Given the description of an element on the screen output the (x, y) to click on. 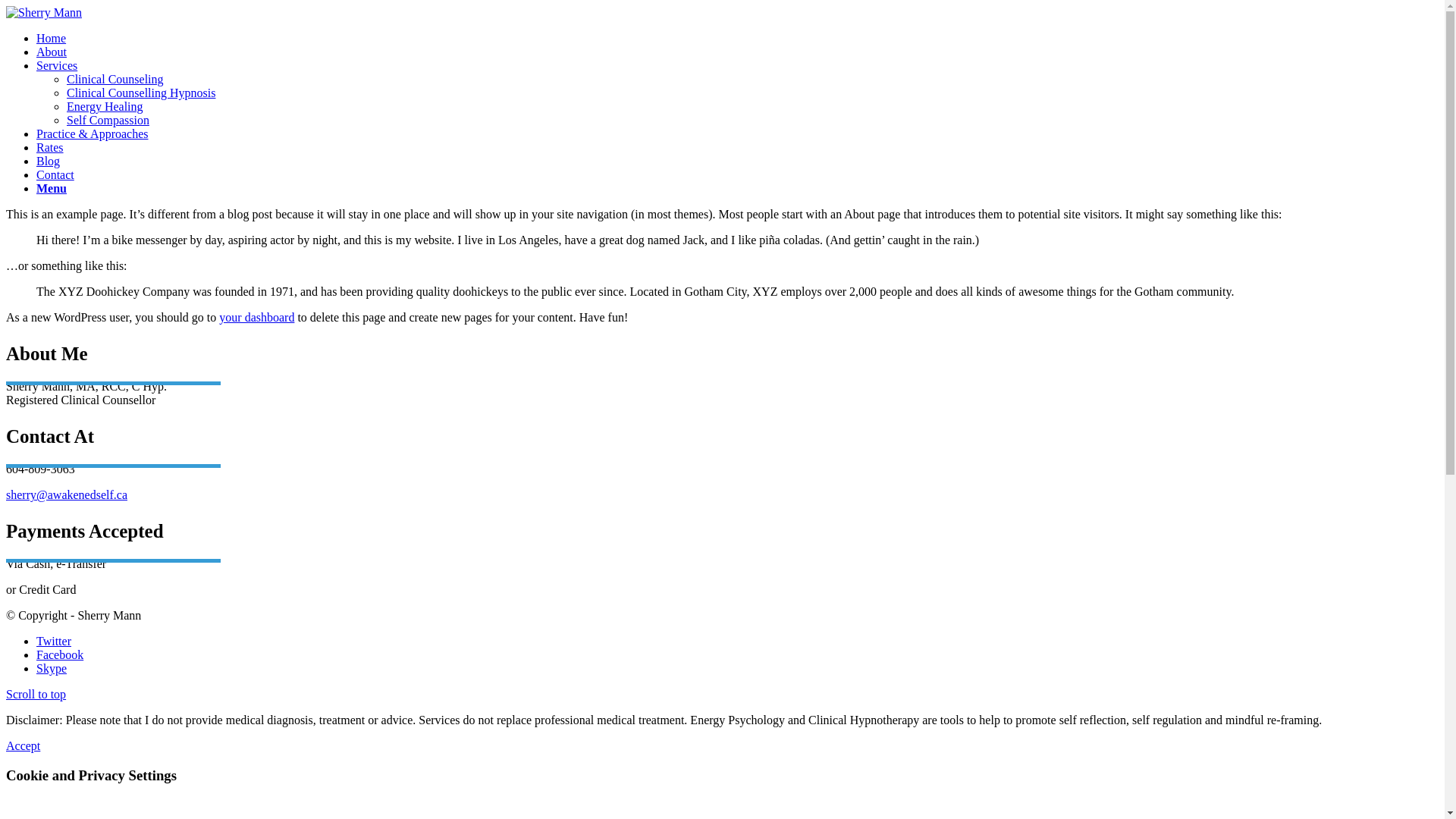
Scroll to top Element type: text (35, 693)
Services Element type: text (56, 65)
Menu Element type: text (51, 188)
About Element type: text (51, 51)
Home Element type: text (50, 37)
Twitter Element type: text (53, 640)
Practice & Approaches Element type: text (92, 133)
Clinical Counseling Element type: text (114, 78)
Energy Healing Element type: text (104, 106)
Facebook Element type: text (59, 654)
Rates Element type: text (49, 147)
sherry@awakenedself.ca Element type: text (66, 494)
your dashboard Element type: text (256, 316)
Accept Element type: text (23, 745)
Clinical Counselling Hypnosis Element type: text (140, 92)
Blog Element type: text (47, 160)
Self Compassion Element type: text (107, 119)
Contact Element type: text (55, 174)
Skype Element type: text (51, 668)
